Given the description of an element on the screen output the (x, y) to click on. 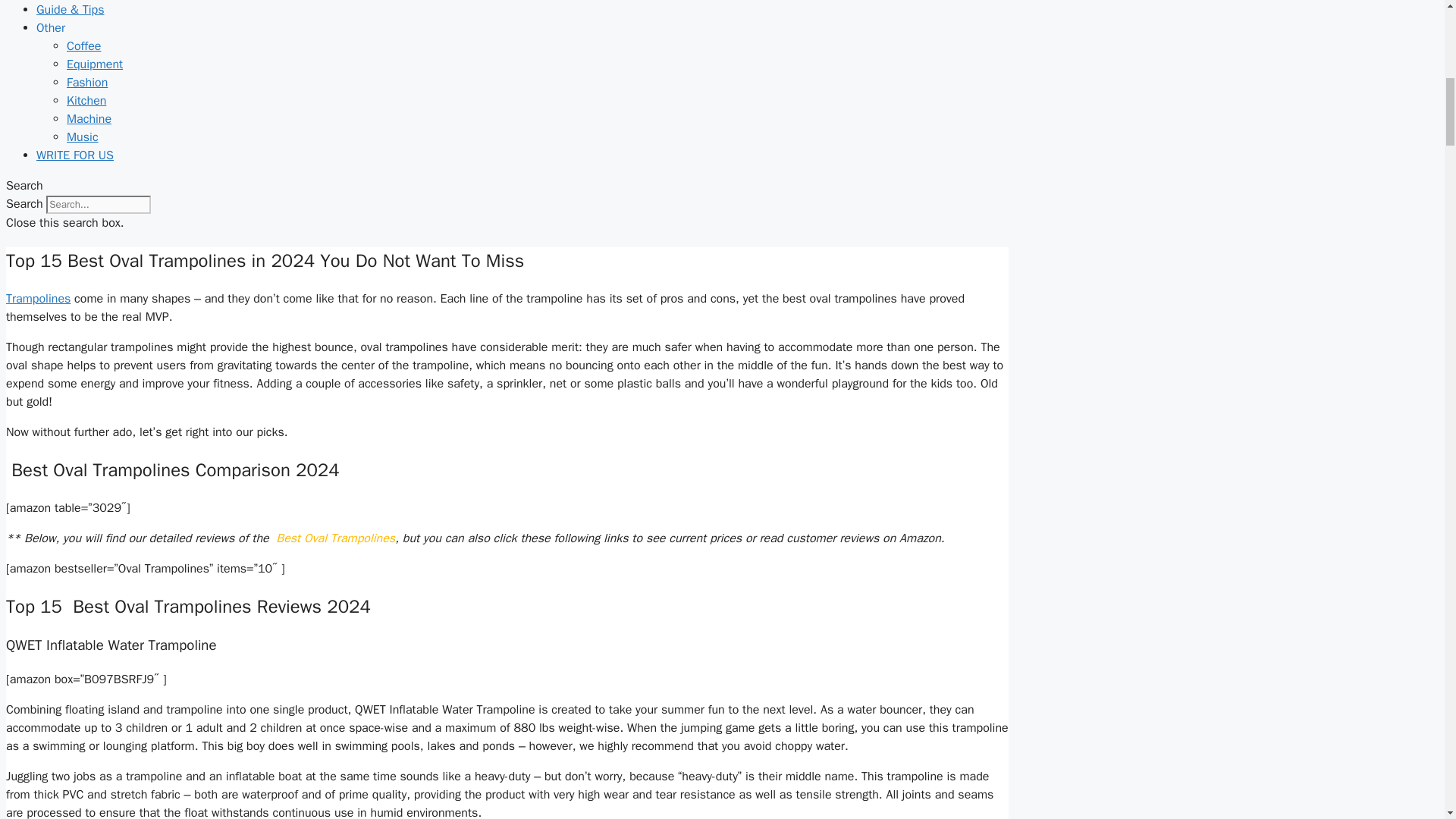
Scroll back to top (1406, 720)
Other (50, 28)
Coffee (83, 46)
